Given the description of an element on the screen output the (x, y) to click on. 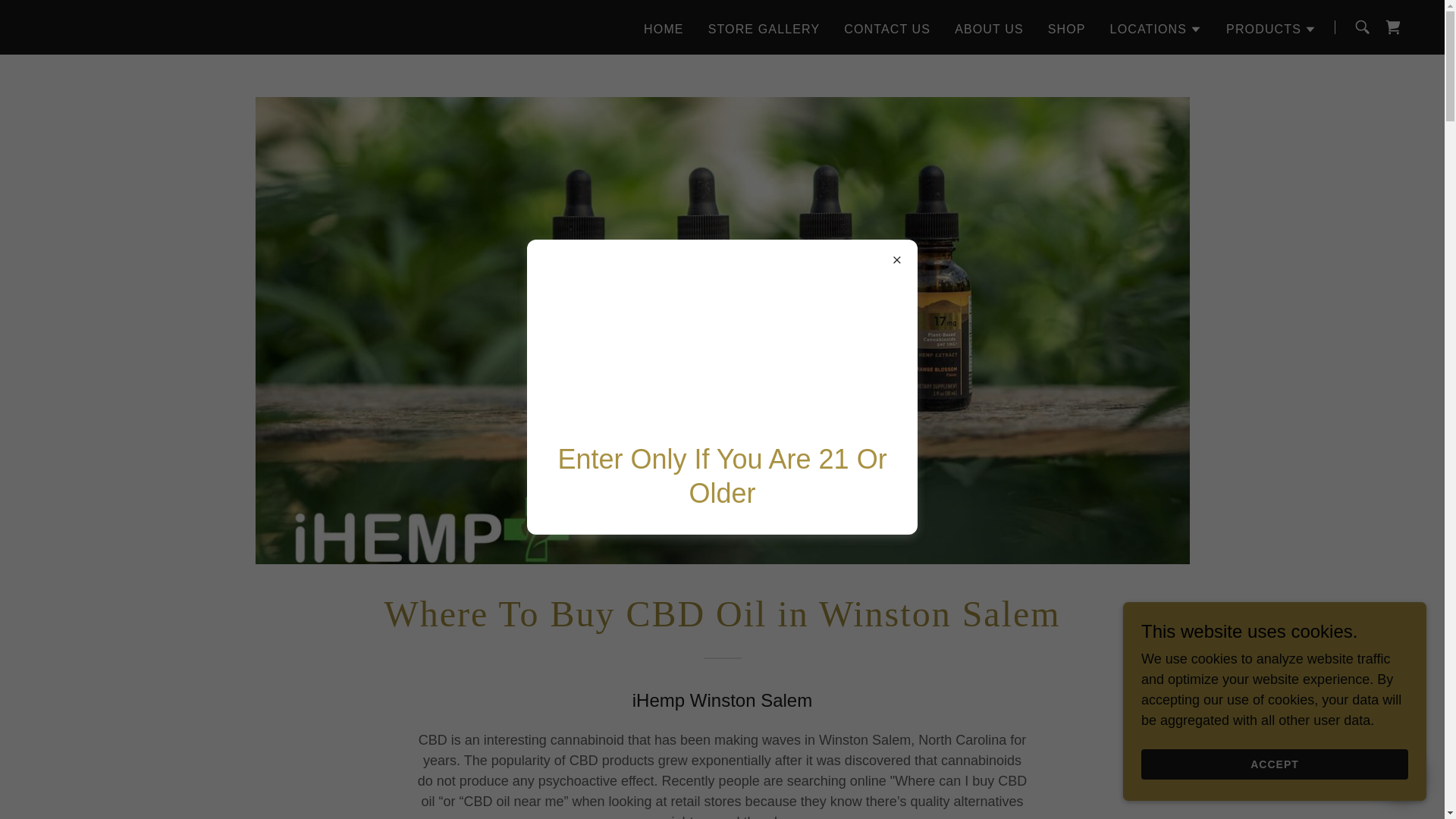
HOME (663, 28)
ABOUT US (988, 28)
PRODUCTS (1270, 28)
CONTACT US (887, 28)
STORE GALLERY (764, 28)
LOCATIONS (1155, 28)
SHOP (1066, 28)
